Given the description of an element on the screen output the (x, y) to click on. 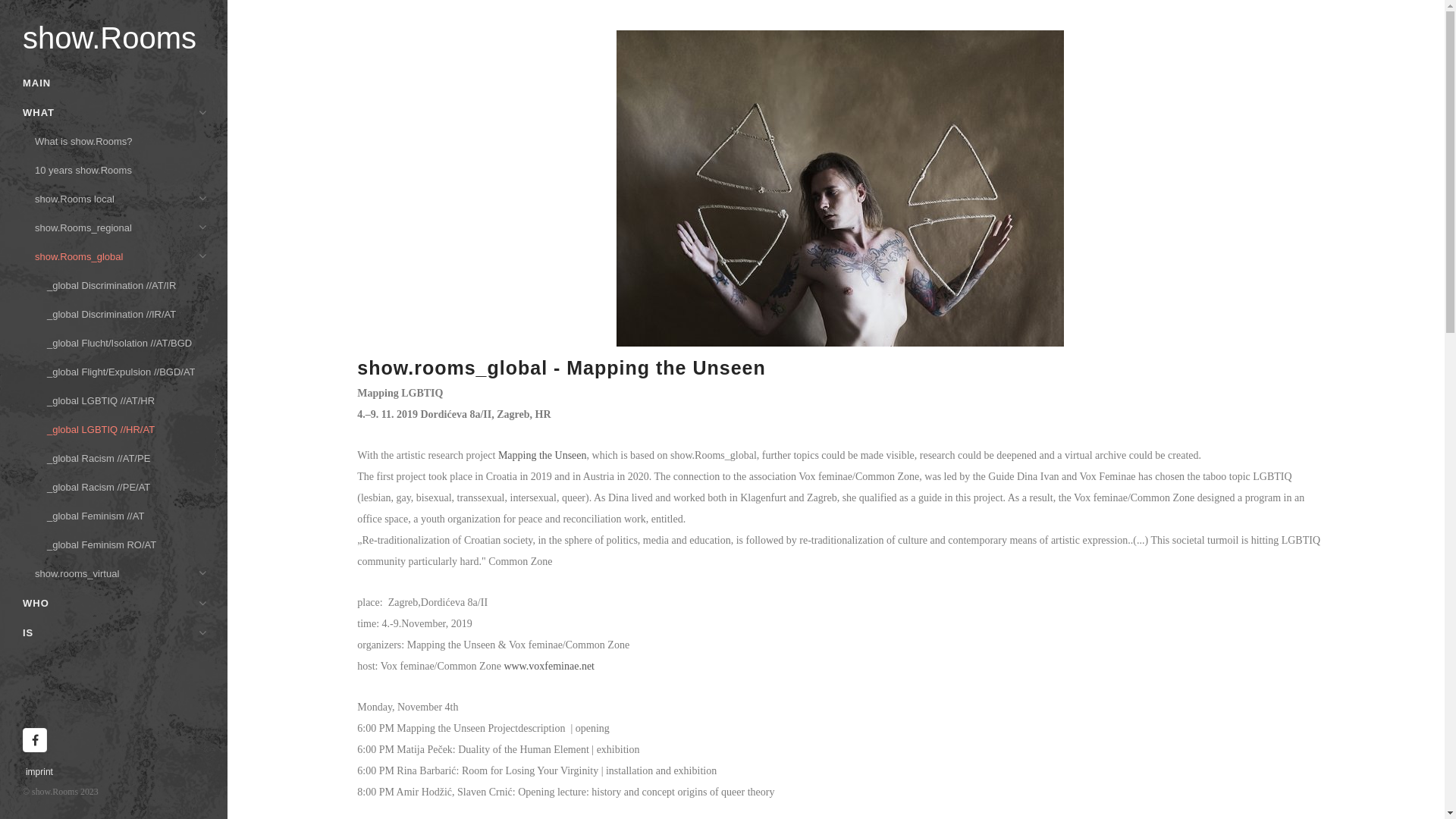
IS Element type: text (114, 632)
Mapping the Unseen Element type: text (542, 454)
_global Discrimination //AT/IR Element type: text (114, 285)
_global LGBTIQ //HR/AT Element type: text (114, 429)
_global Flight/Expulsion //BGD/AT Element type: text (114, 371)
MAIN Element type: text (114, 82)
_global Racism //PE/AT Element type: text (114, 487)
_global Feminism //AT Element type: text (114, 516)
10 years show.Rooms Element type: text (114, 170)
_global Discrimination //IR/AT Element type: text (114, 314)
_global LGBTIQ //AT/HR Element type: text (114, 400)
WHO Element type: text (114, 603)
copyright Matija Pecek Element type: hover (839, 188)
show.Rooms_regional Element type: text (114, 227)
WHAT Element type: text (114, 112)
_global Flucht/Isolation //AT/BGD Element type: text (114, 343)
_global Racism //AT/PE Element type: text (114, 458)
show.Rooms_global Element type: text (114, 256)
What is show.Rooms? Element type: text (114, 141)
imprint Element type: text (39, 771)
_global Feminism RO/AT Element type: text (114, 544)
show.Rooms local Element type: text (114, 199)
show.rooms_virtual Element type: text (114, 573)
www.voxfeminae.net Element type: text (548, 665)
